Given the description of an element on the screen output the (x, y) to click on. 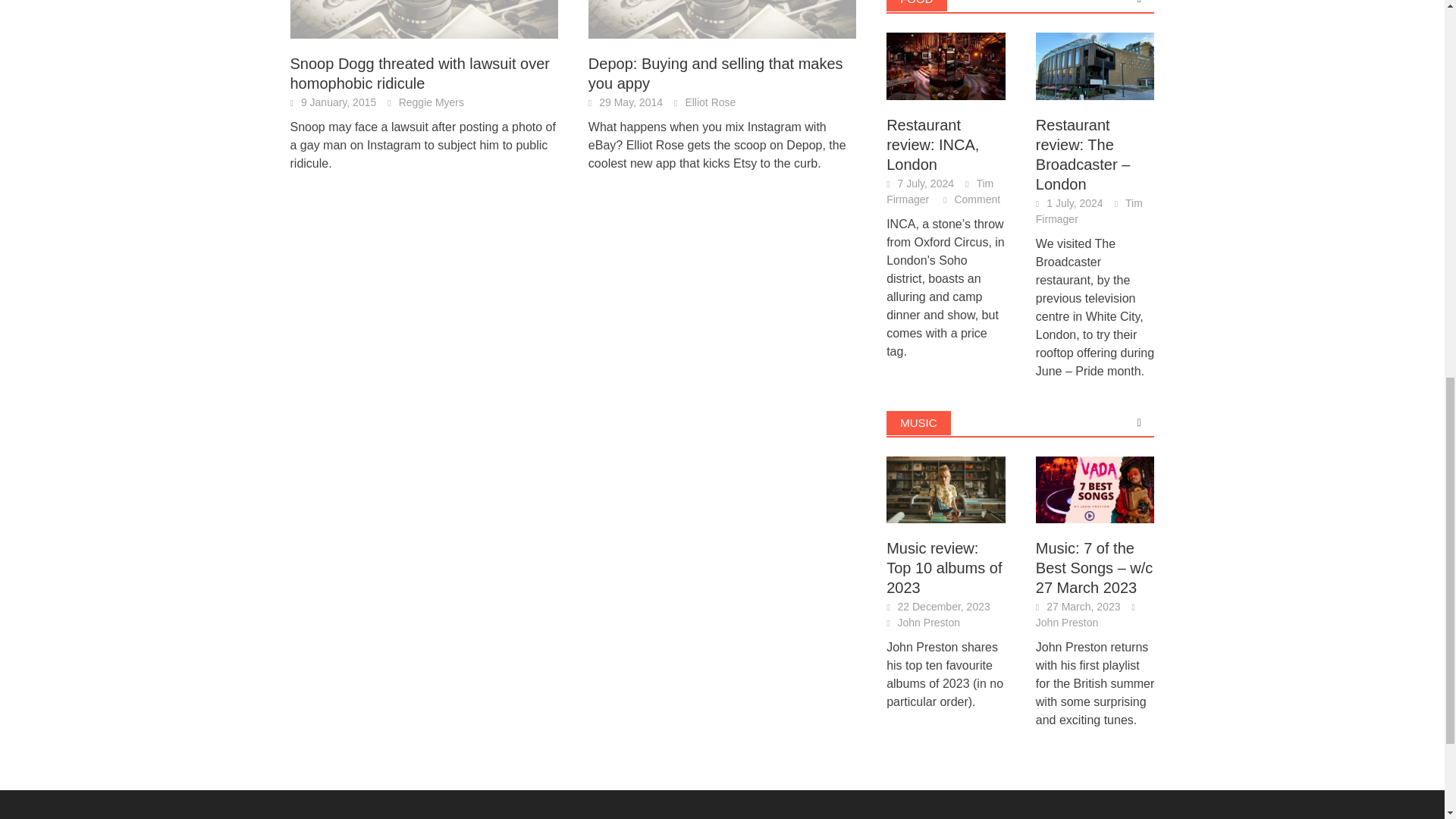
Restaurant review: INCA, London (946, 65)
Restaurant review: INCA, London (946, 64)
Music review: Top 10 albums of 2023 (946, 488)
